Given the description of an element on the screen output the (x, y) to click on. 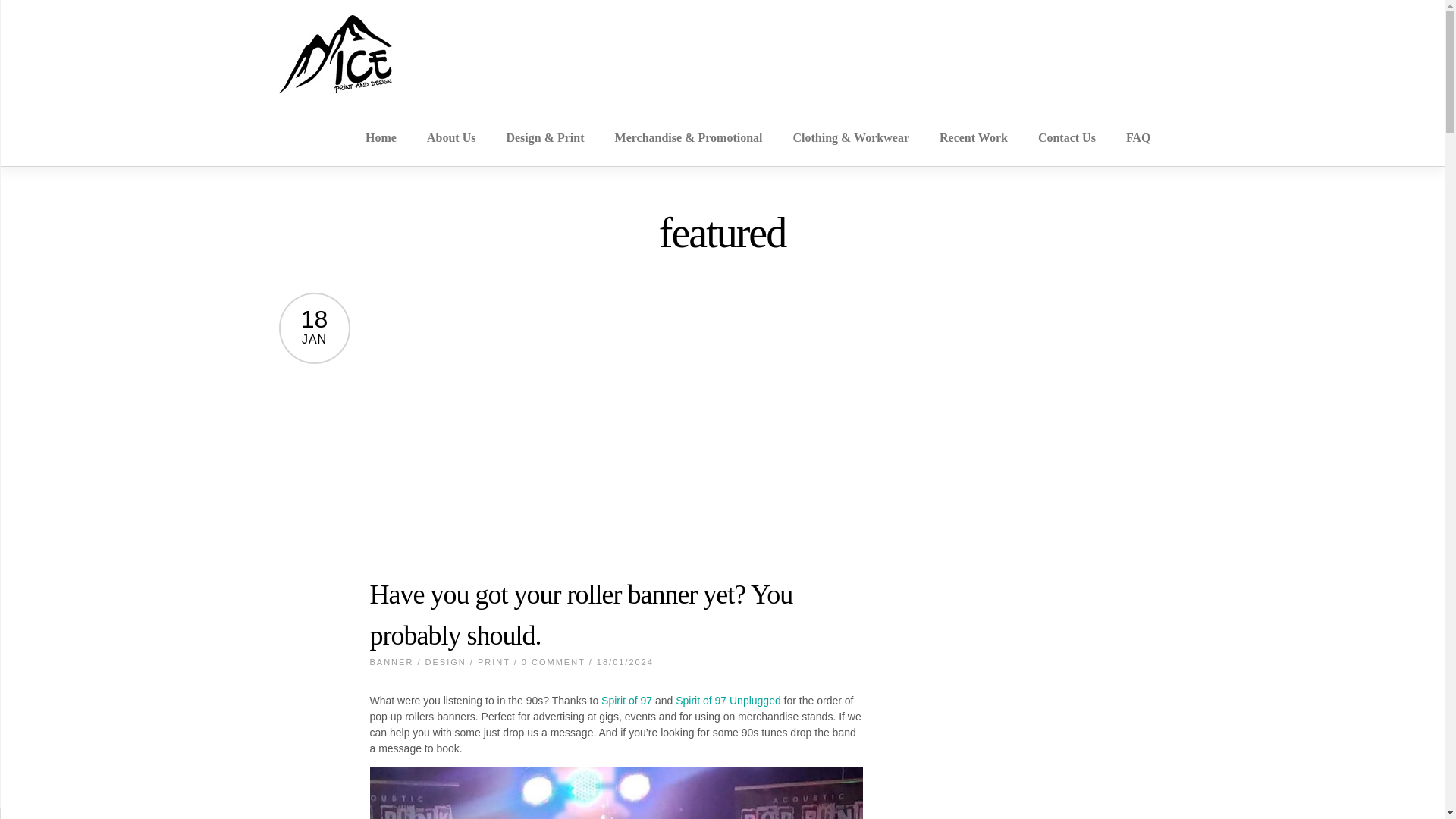
Spirit of 97 Unplugged (727, 700)
BANNER (391, 661)
Have you got your roller banner yet? You probably should. (581, 614)
PRINT (494, 661)
Contact Us (1067, 137)
About Us (451, 137)
Home (380, 137)
Spirit of 97 (626, 700)
FAQ (1138, 137)
DESIGN (445, 661)
Recent Work (973, 137)
Have you got your roller banner yet? You probably should. (581, 614)
0 COMMENT (553, 661)
